Given the description of an element on the screen output the (x, y) to click on. 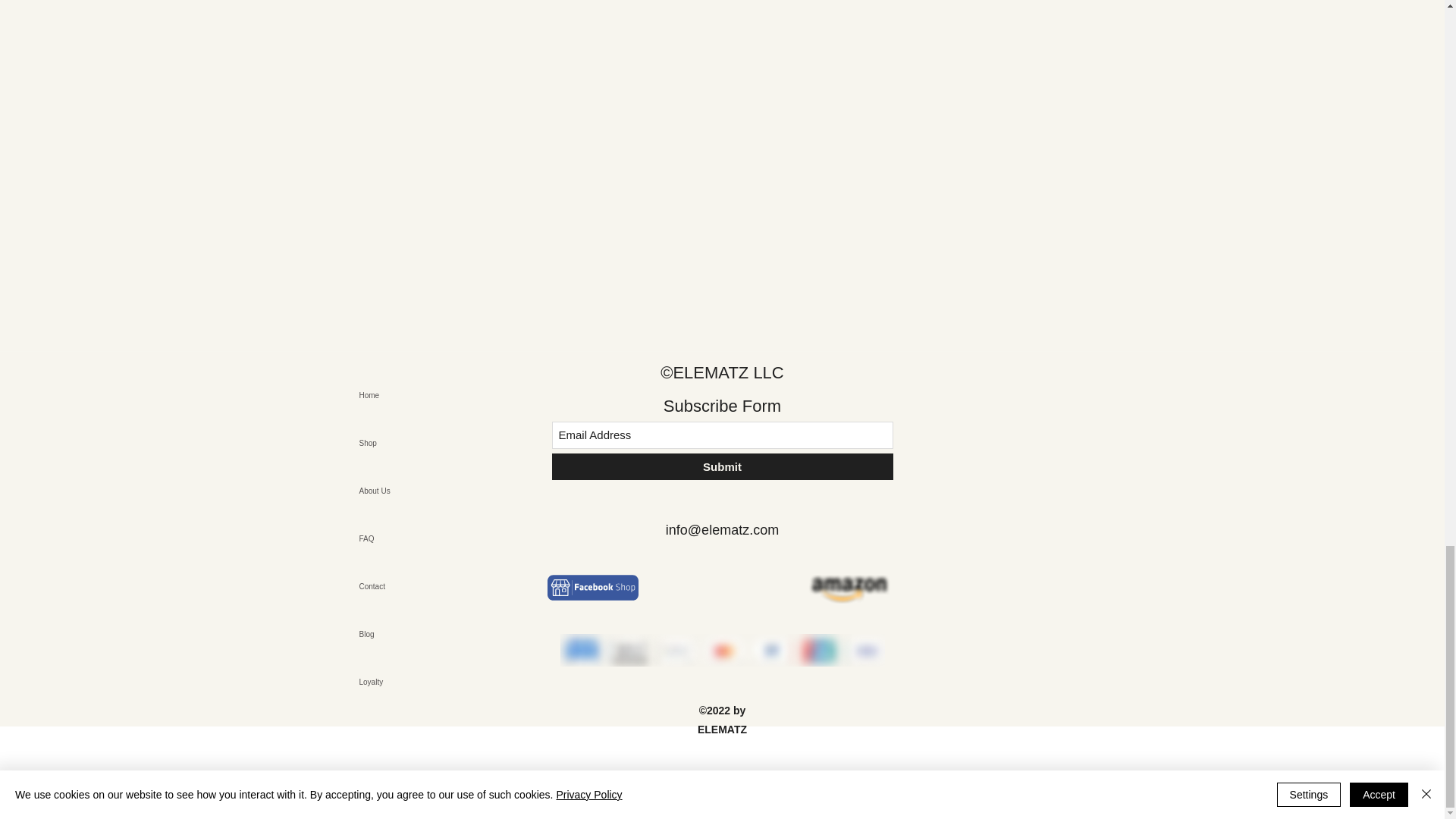
Blog (411, 634)
Shop (411, 442)
About Us (411, 490)
Home (411, 395)
FAQ (411, 538)
Contact (411, 586)
